Given the description of an element on the screen output the (x, y) to click on. 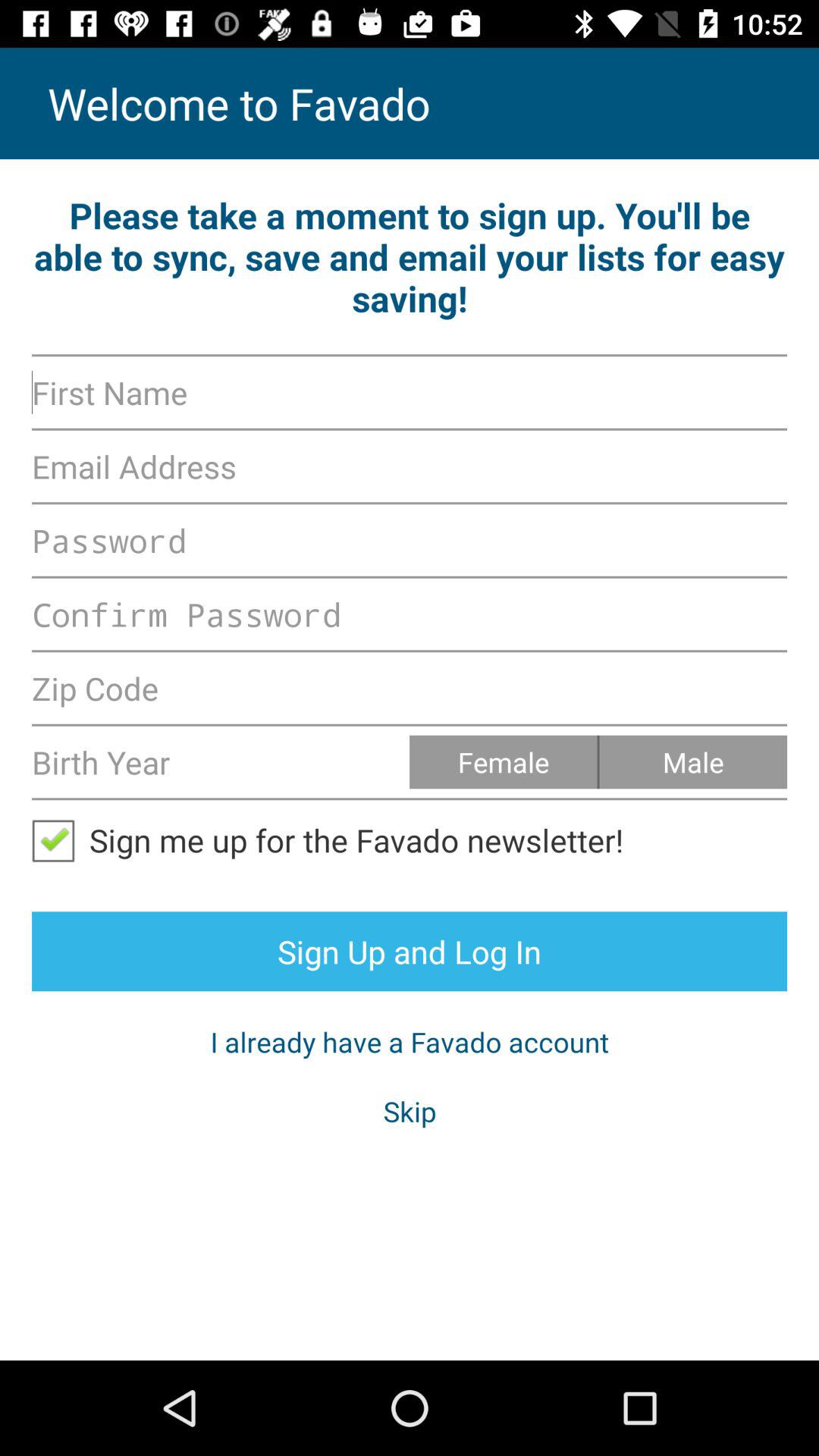
confirm password (409, 614)
